Given the description of an element on the screen output the (x, y) to click on. 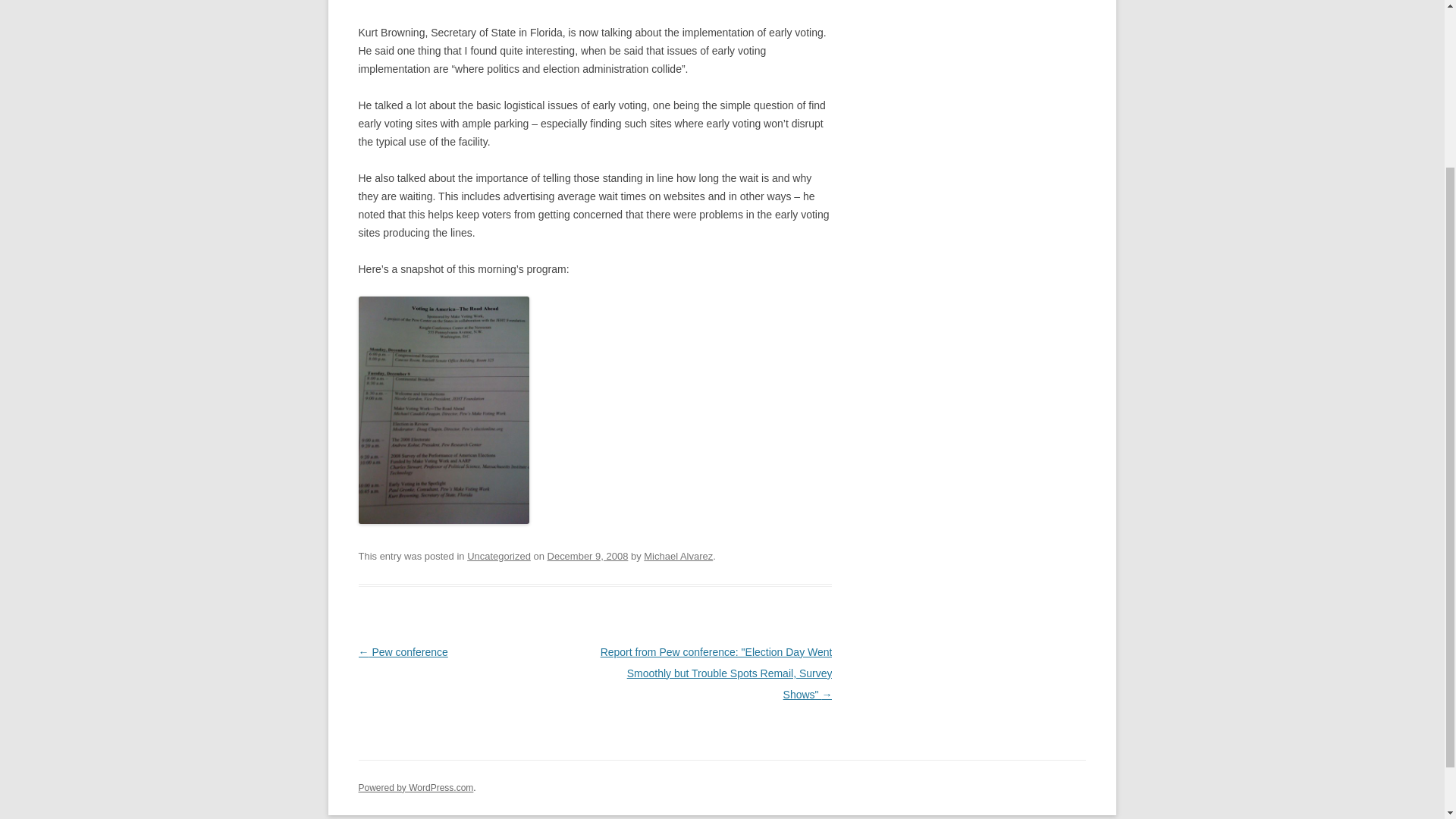
Uncategorized (499, 555)
8:22 am (587, 555)
December 9, 2008 (587, 555)
Powered by WordPress.com (415, 787)
View all posts by Michael Alvarez (678, 555)
Michael Alvarez (678, 555)
